Given the description of an element on the screen output the (x, y) to click on. 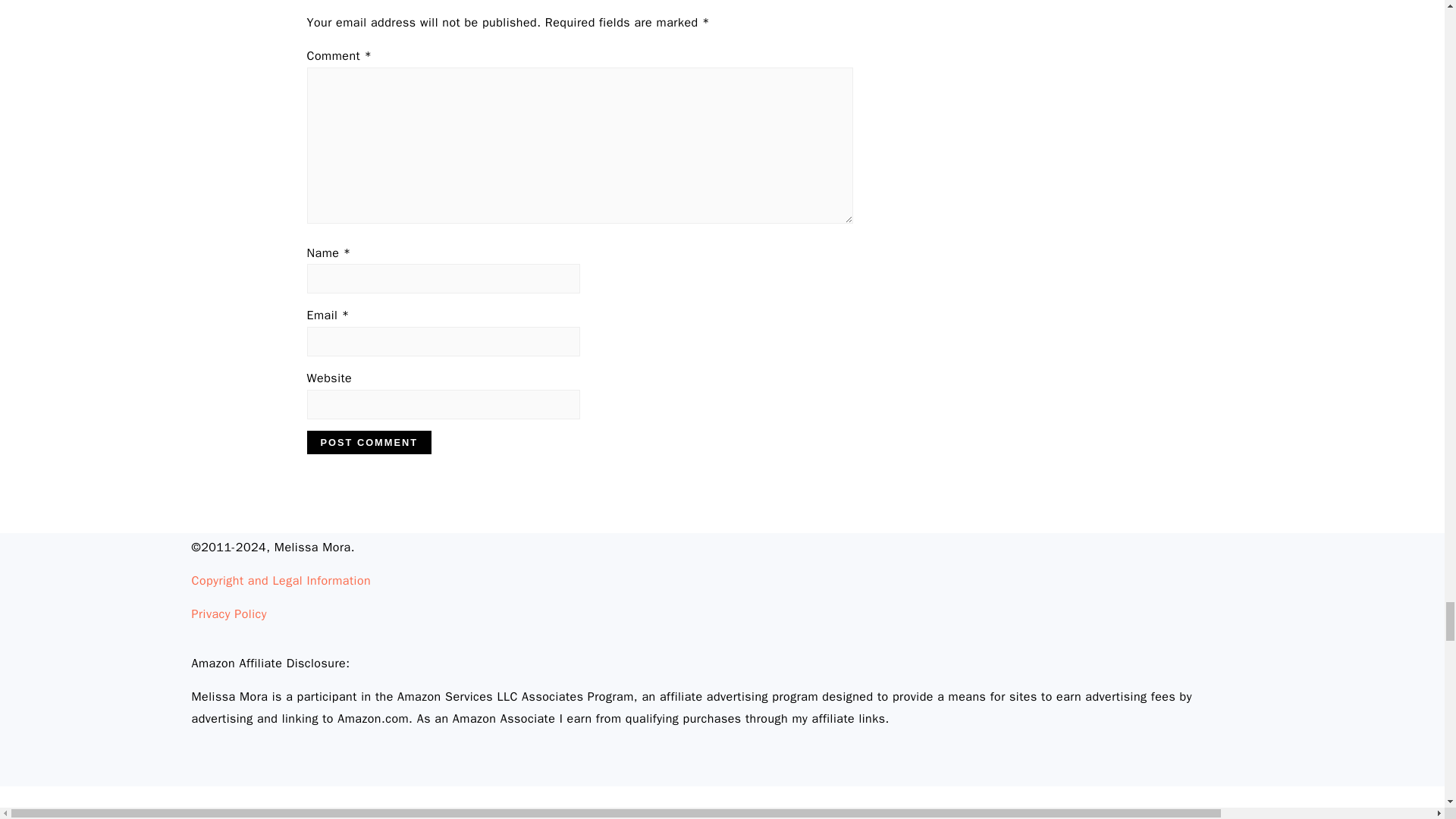
Post Comment (367, 442)
